Given the description of an element on the screen output the (x, y) to click on. 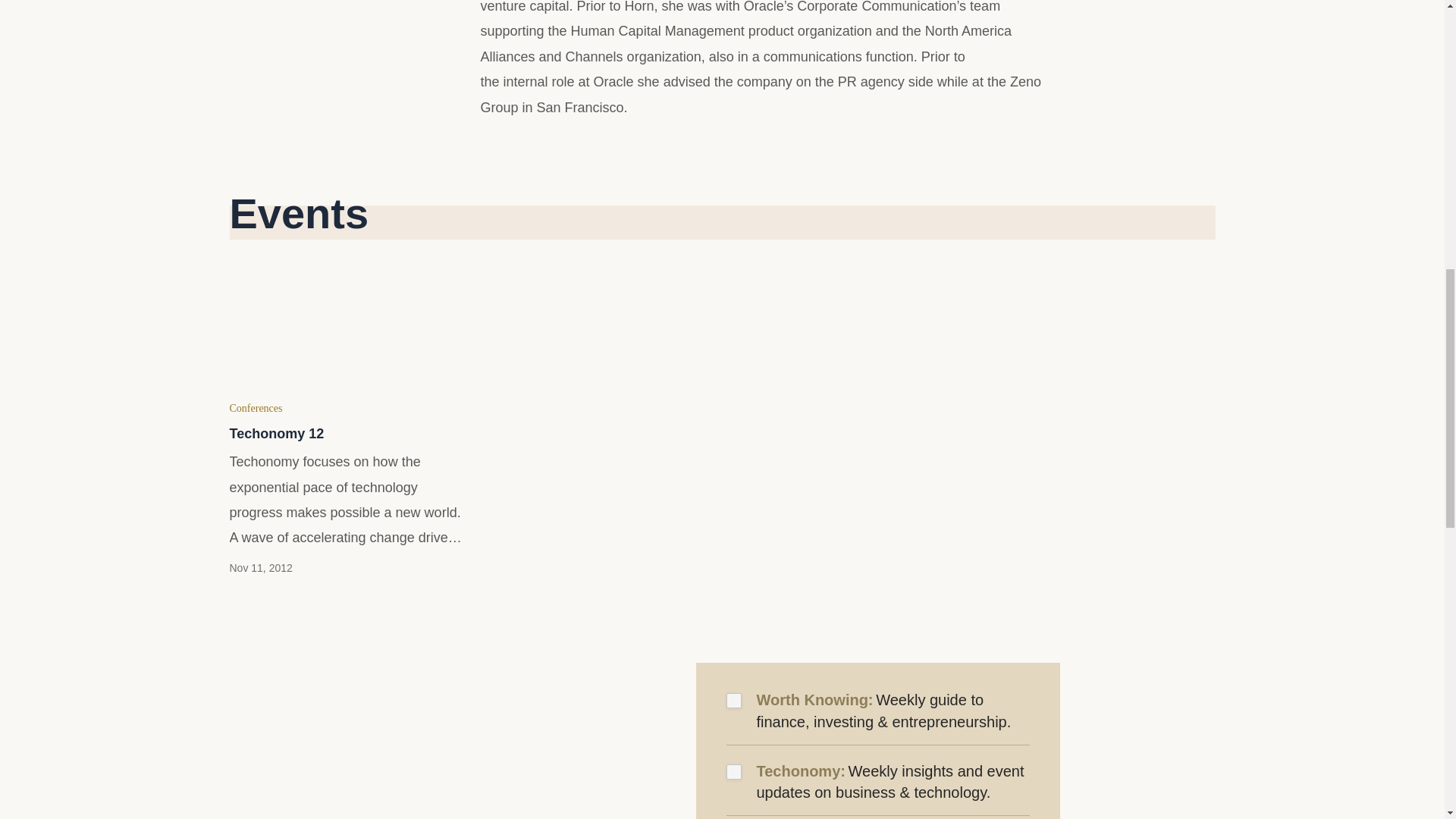
yes (733, 771)
yes (733, 700)
